Given the description of an element on the screen output the (x, y) to click on. 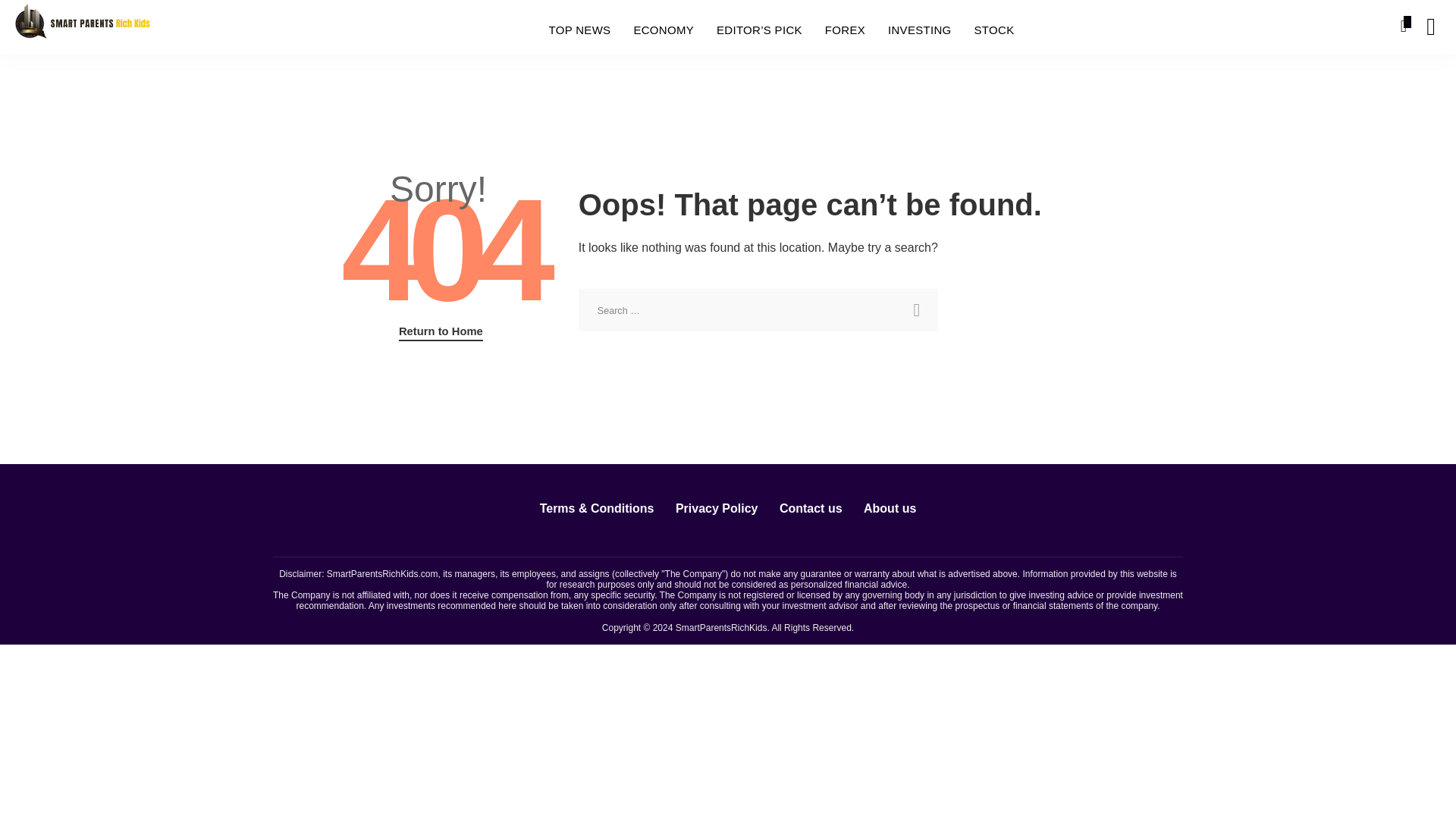
Search (916, 310)
FOREX (844, 30)
TOP NEWS (580, 30)
Search (916, 310)
STOCK (994, 30)
Search (1419, 84)
About us (889, 507)
Search (916, 310)
Contact us (810, 507)
Return to Home (440, 331)
